Given the description of an element on the screen output the (x, y) to click on. 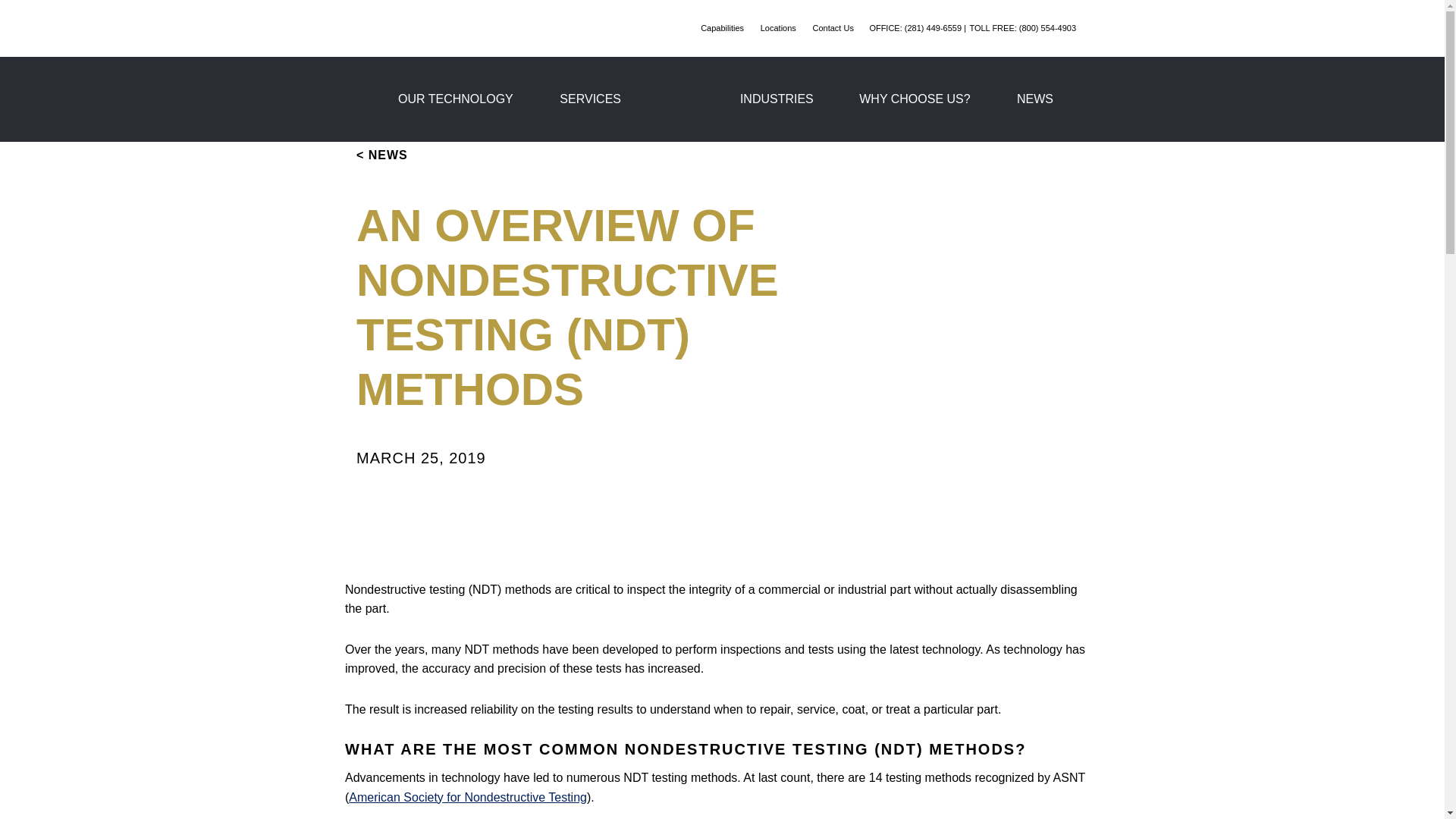
OUR TECHNOLOGY (455, 98)
SERVICES (590, 98)
Locations (780, 28)
Capabilities (723, 28)
Contact Us (834, 28)
